Given the description of an element on the screen output the (x, y) to click on. 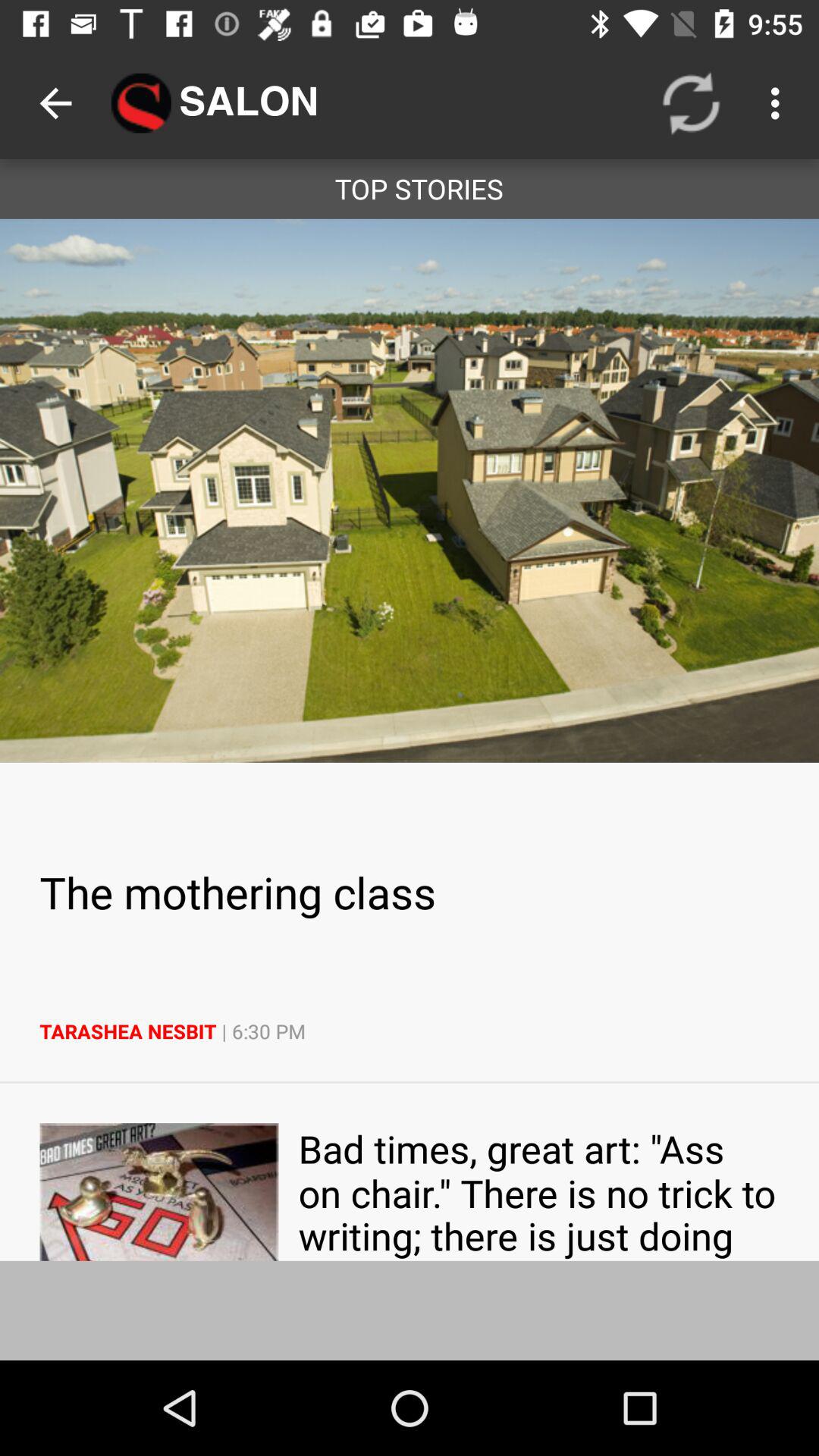
launch the item above the top stories (55, 103)
